Given the description of an element on the screen output the (x, y) to click on. 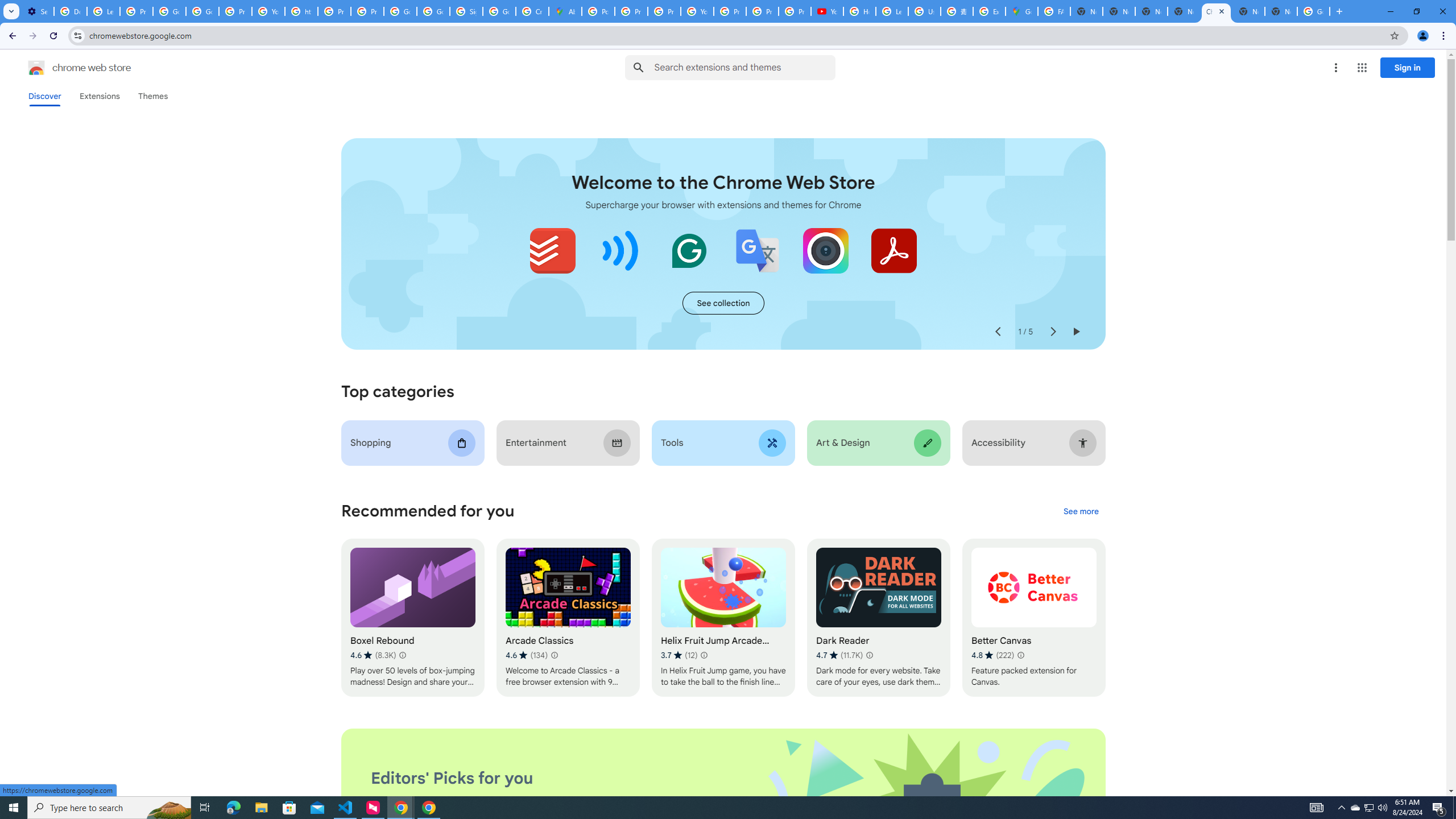
Themes (152, 95)
Sign in - Google Accounts (465, 11)
Chrome Web Store logo chrome web store (67, 67)
Privacy Help Center - Policies Help (631, 11)
More options menu (1335, 67)
Average rating 4.6 out of 5 stars. 134 ratings. (526, 655)
Average rating 4.8 out of 5 stars. 222 ratings. (992, 655)
Dark Reader (878, 617)
Chrome Web Store (1216, 11)
Extensions (99, 95)
Create your Google Account (532, 11)
Tools (722, 443)
